Given the description of an element on the screen output the (x, y) to click on. 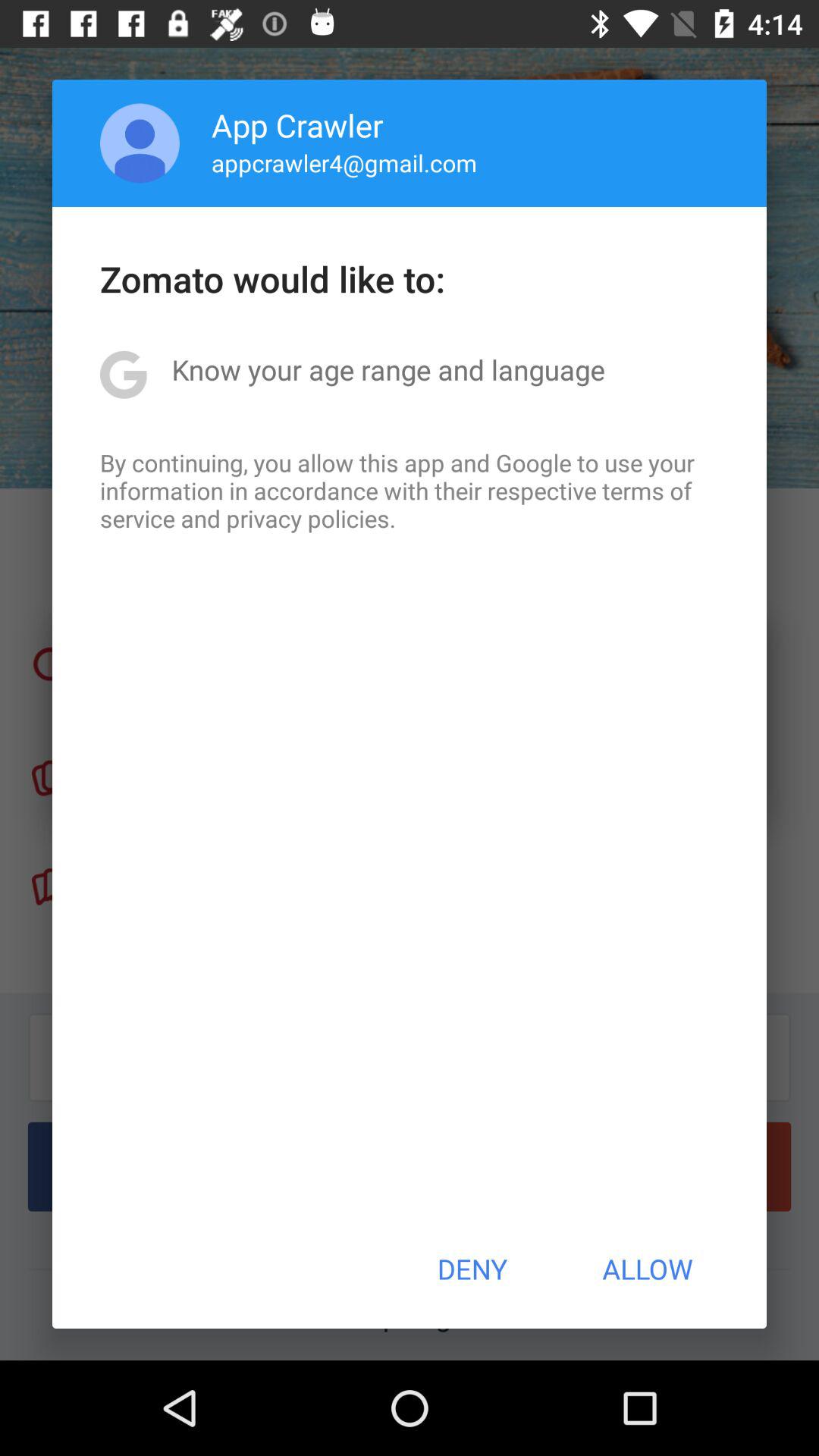
choose icon to the left of allow icon (471, 1268)
